Given the description of an element on the screen output the (x, y) to click on. 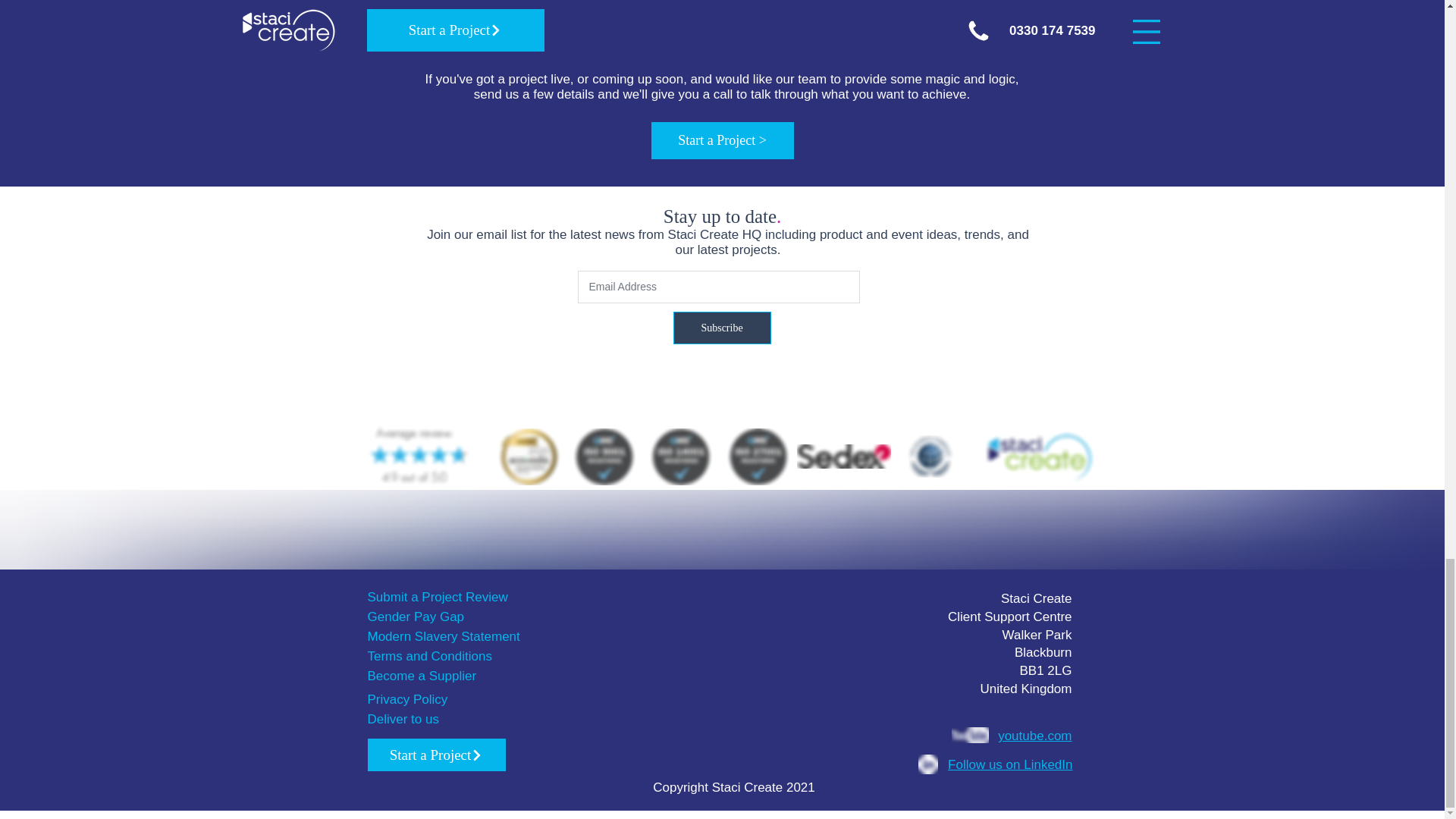
Deliver to us (402, 718)
Terms and Conditions (429, 656)
Become a Supplier (421, 676)
Submit a Project Review (436, 596)
Follow us on LinkedIn (1009, 764)
LinkedIn animated Icon.gif (927, 763)
Subscribe (721, 327)
Gender Pay Gap (415, 616)
YouTube Icon.png (969, 734)
Modern Slavery Statement (442, 636)
youtube.com (1034, 735)
Privacy Policy (406, 699)
Start a Project (435, 754)
